Given the description of an element on the screen output the (x, y) to click on. 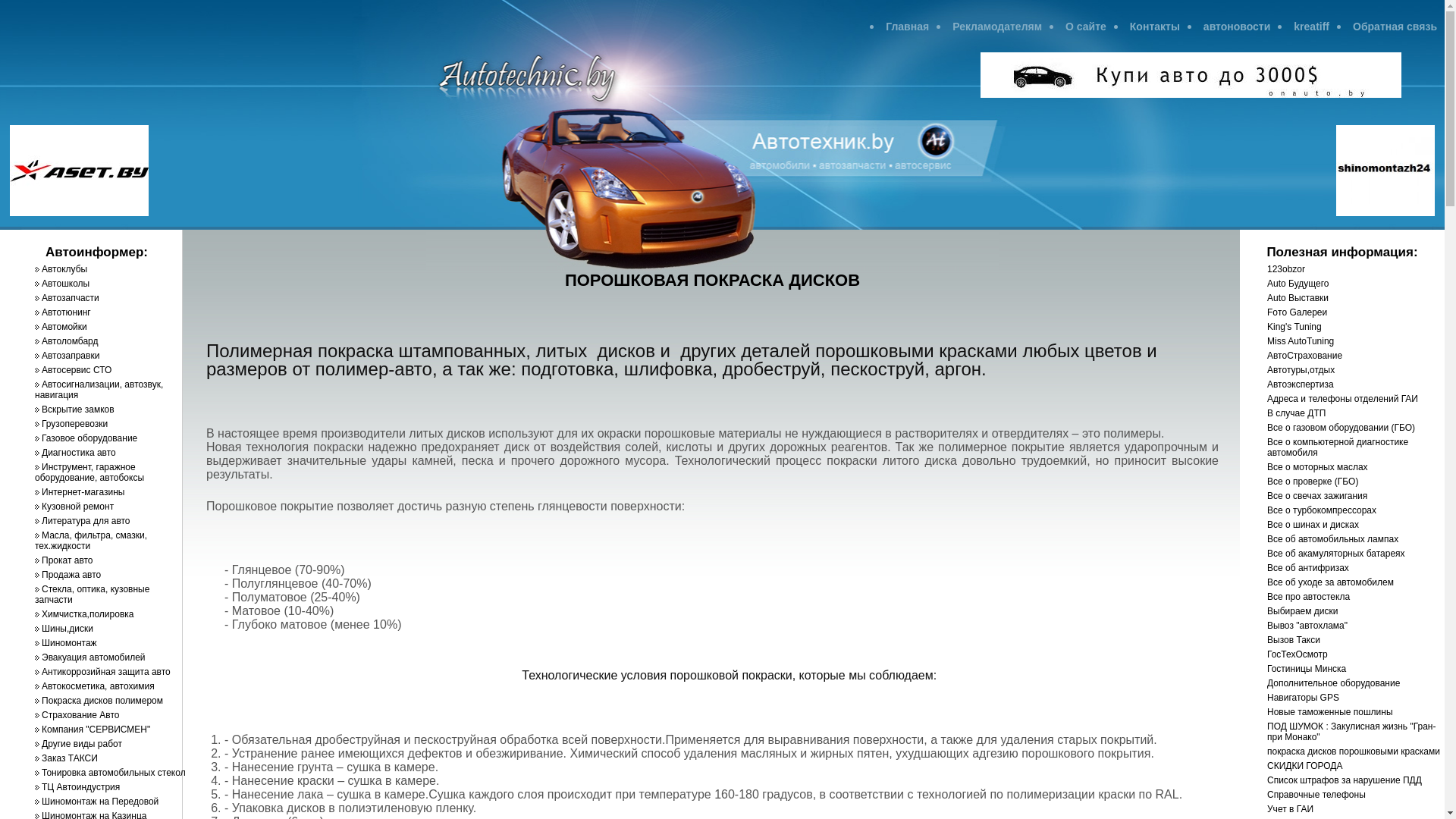
kreatiff Element type: text (1311, 26)
Miss AutoTuning Element type: text (1300, 340)
King's Tuning Element type: text (1294, 326)
onauto.by Element type: hover (1190, 93)
123obzor Element type: text (1286, 268)
